Given the description of an element on the screen output the (x, y) to click on. 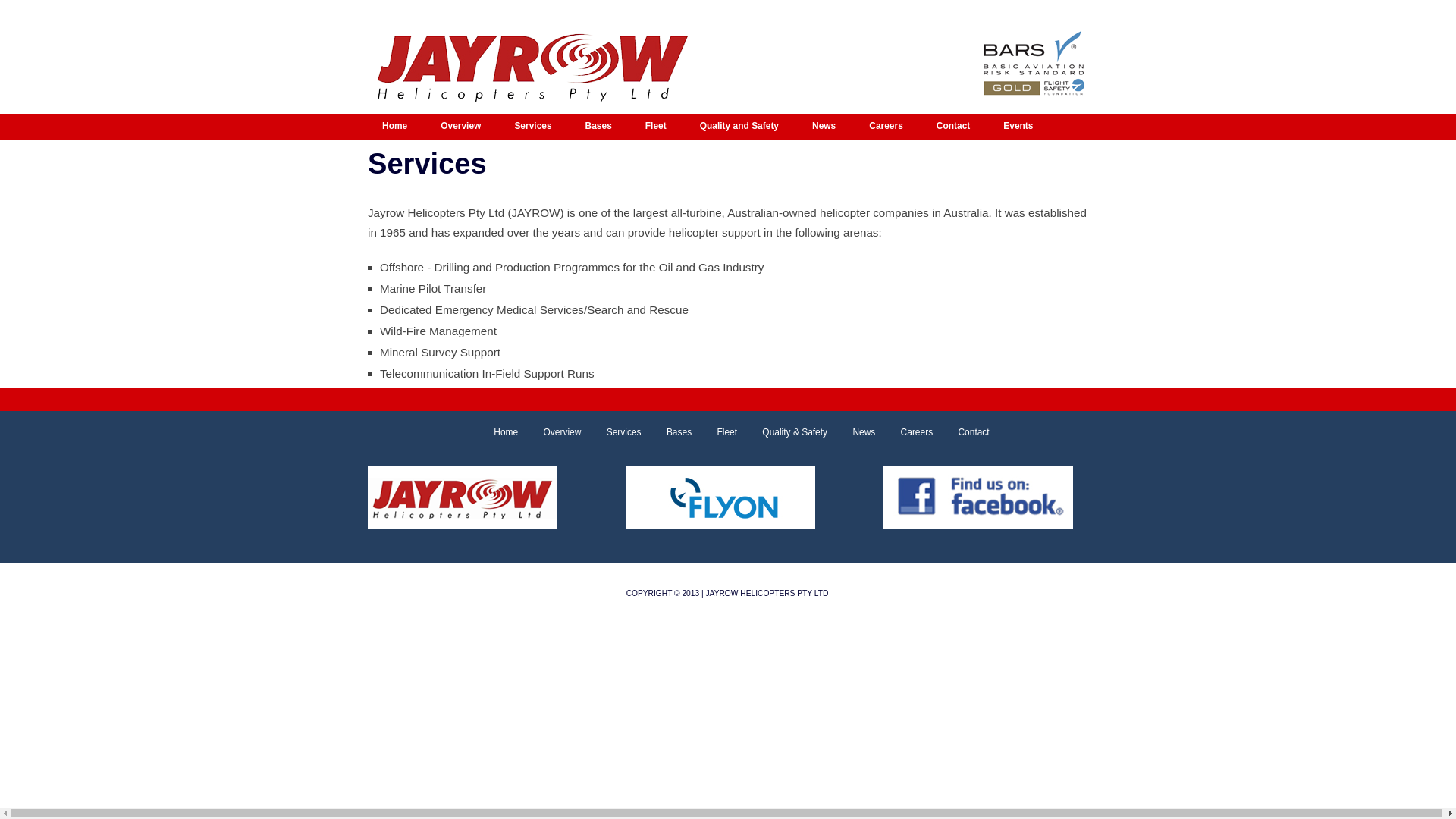
Events Element type: text (1019, 126)
Services Element type: text (612, 431)
Services Element type: text (534, 126)
Contact Element type: text (961, 431)
Home Element type: text (493, 431)
Quality & Safety Element type: text (783, 431)
Quality and Safety Element type: text (741, 126)
News Element type: text (825, 126)
Bases Element type: text (667, 431)
Fleet Element type: text (657, 126)
Careers Element type: text (905, 431)
Fleet Element type: text (715, 431)
Contact Element type: text (955, 126)
Careers Element type: text (888, 126)
Home Element type: text (396, 126)
JAYROW HELICOPTERS PTY LTD Element type: text (766, 593)
News Element type: text (852, 431)
Overview Element type: text (550, 431)
Bases Element type: text (600, 126)
Overview Element type: text (462, 126)
